Given the description of an element on the screen output the (x, y) to click on. 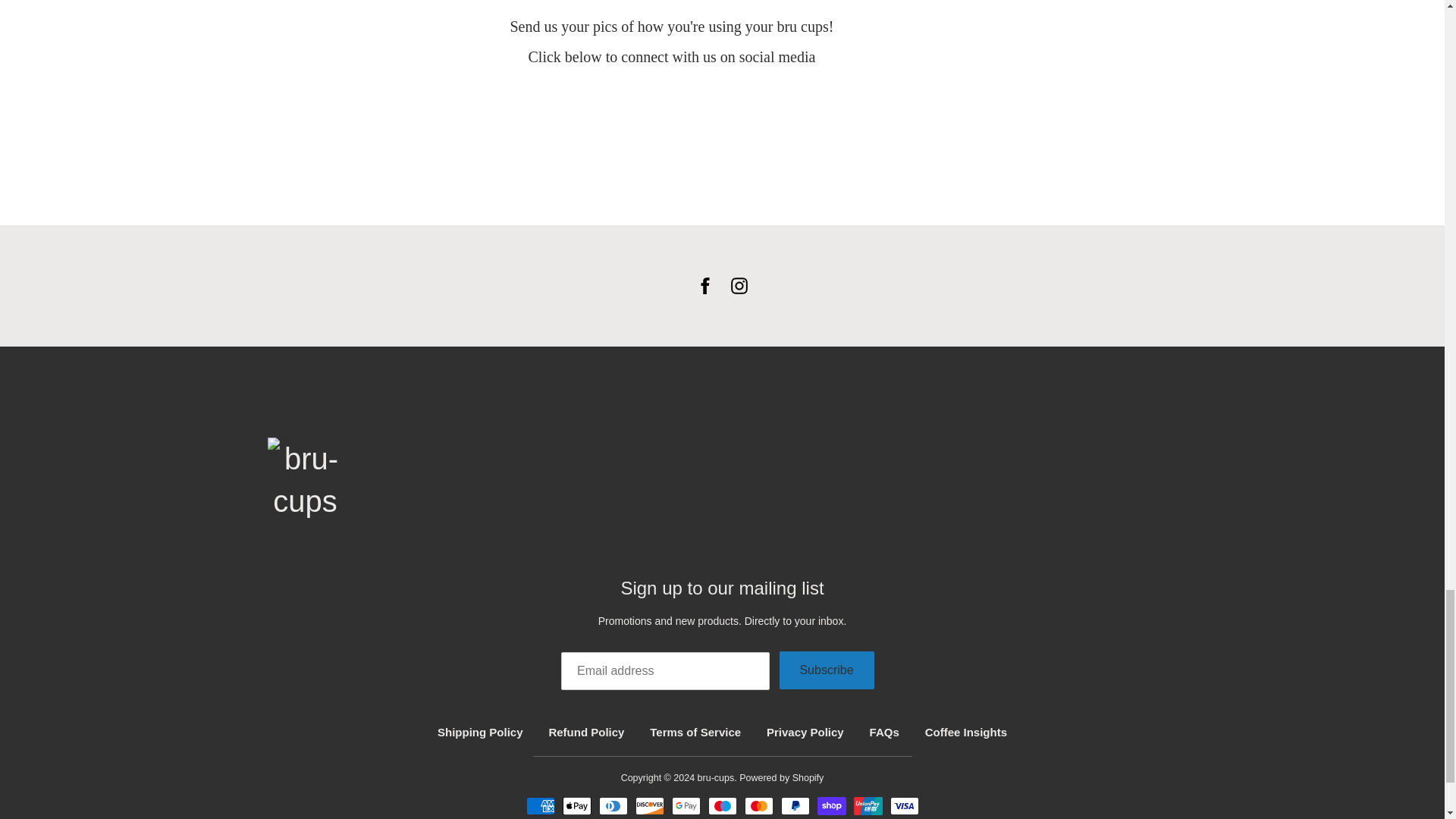
Google Pay (685, 805)
Maestro (721, 805)
Coffee Insights (965, 731)
American Express (539, 805)
Union Pay (867, 805)
PayPal (794, 805)
Subscribe (826, 670)
Visa (903, 805)
Mastercard (758, 805)
Apple Pay (576, 805)
Diners Club (612, 805)
Terms of Service (695, 731)
Shop Pay (830, 805)
FAQs (884, 731)
